Given the description of an element on the screen output the (x, y) to click on. 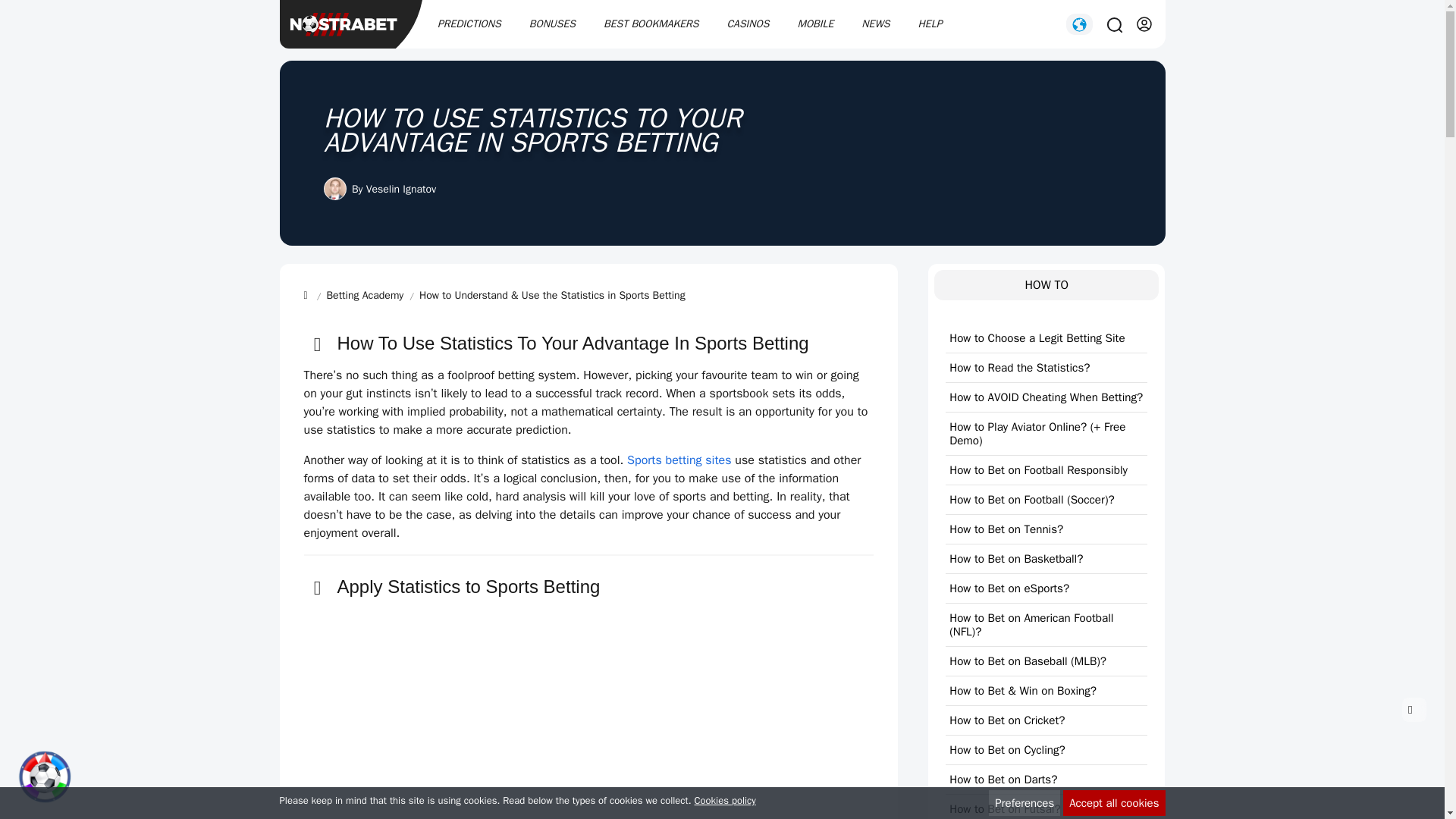
BEST BOOKMAKERS (651, 24)
CASINOS (747, 24)
BONUSES (552, 24)
PREDICTIONS (469, 24)
